Given the description of an element on the screen output the (x, y) to click on. 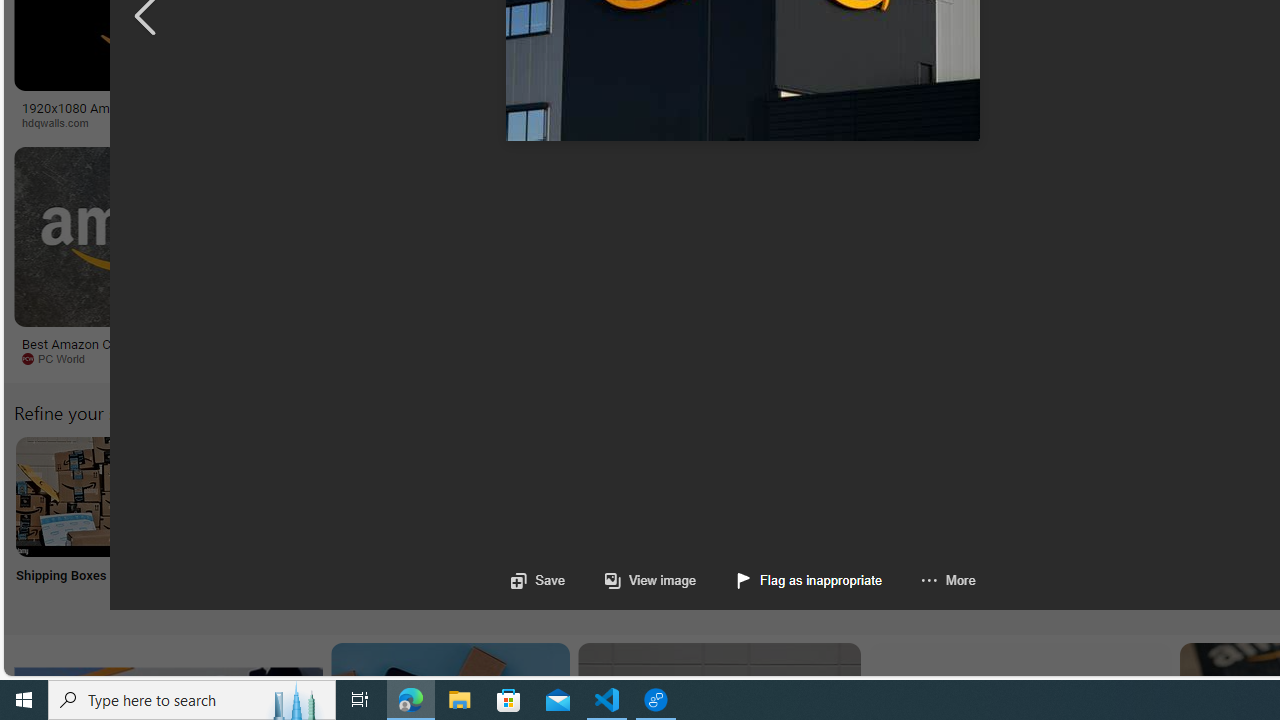
Save (537, 580)
Save (537, 580)
Amazon Log into My Account Log into My Account (472, 521)
aiophotoz.com (666, 359)
Amazon Wish List Wish List (999, 521)
Amazon Online Store Online Store (1131, 521)
Retail Store (867, 521)
Image result for amazon (936, 236)
hdqwalls.com (61, 121)
Amazon Package Delivery Package Delivery (735, 521)
PC World (59, 358)
